Given the description of an element on the screen output the (x, y) to click on. 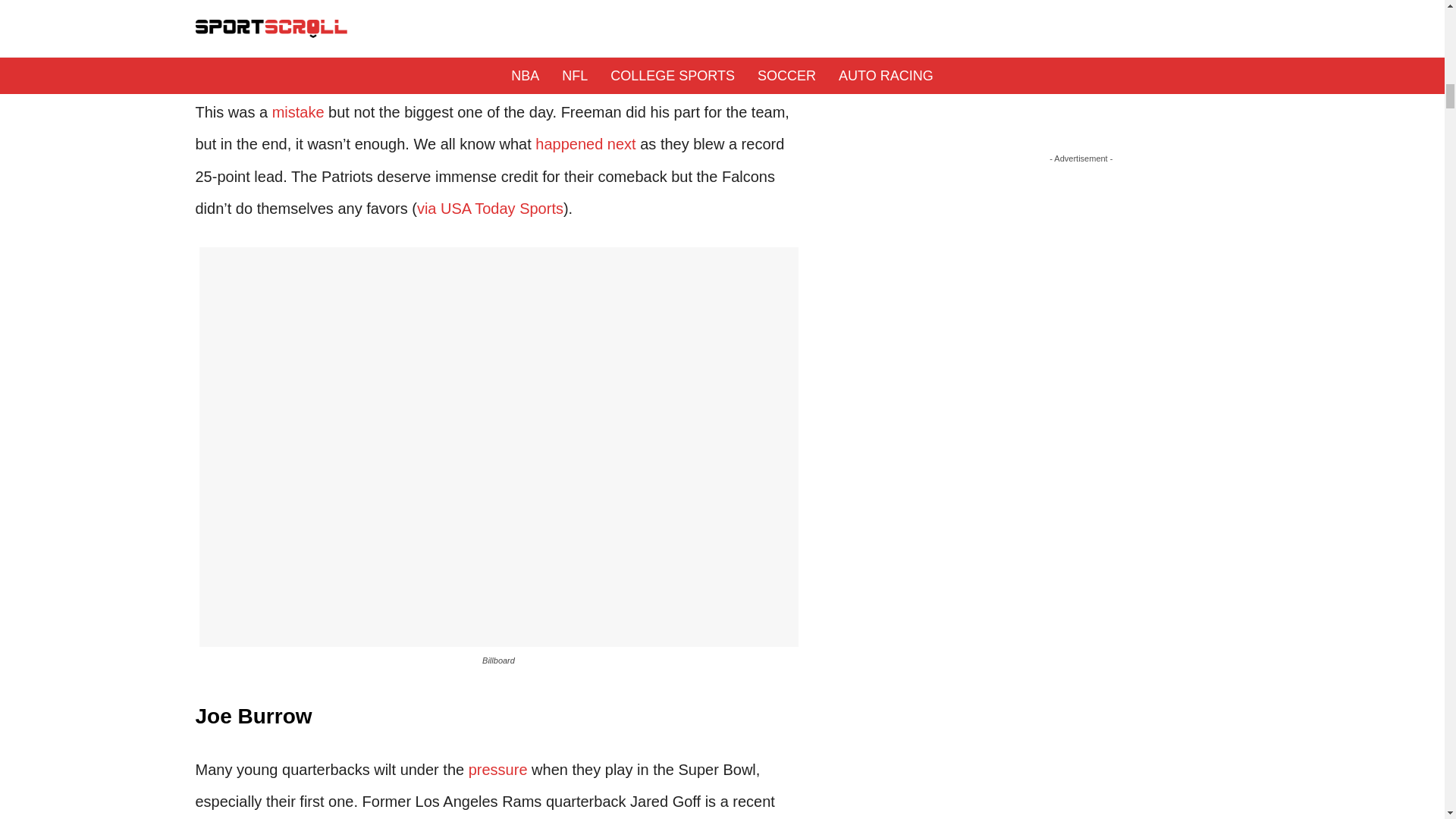
happened next (584, 143)
pressure (497, 769)
mistake (298, 112)
via USA Today Sports (489, 208)
